Given the description of an element on the screen output the (x, y) to click on. 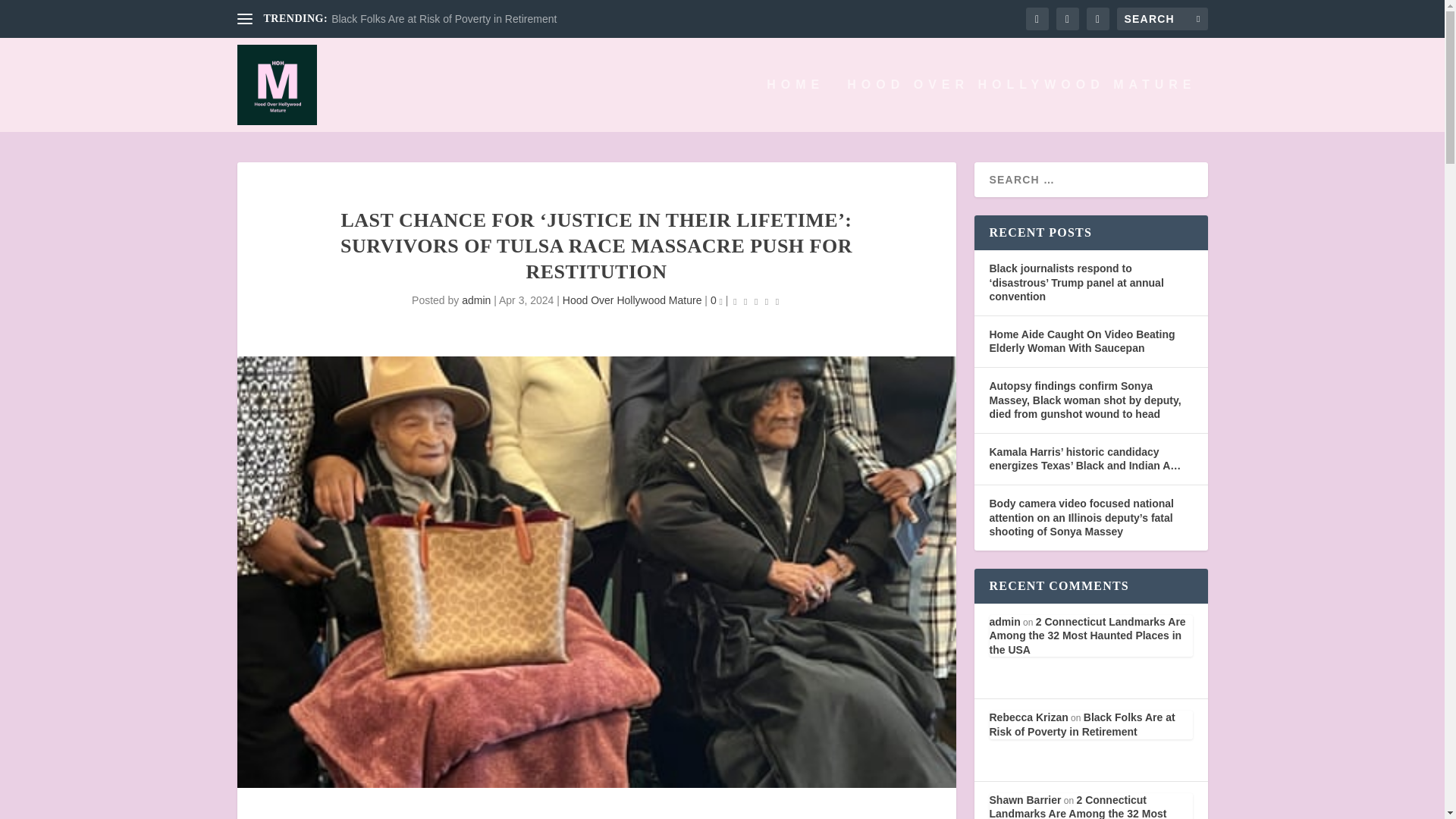
HOOD OVER HOLLYWOOD MATURE (1021, 104)
HOME (795, 104)
Posts by admin (475, 300)
admin (475, 300)
0 (716, 300)
Black Folks Are at Risk of Poverty in Retirement (443, 19)
Search for: (1161, 18)
Rating: 0.00 (755, 301)
Hood Over Hollywood Mature (631, 300)
